Given the description of an element on the screen output the (x, y) to click on. 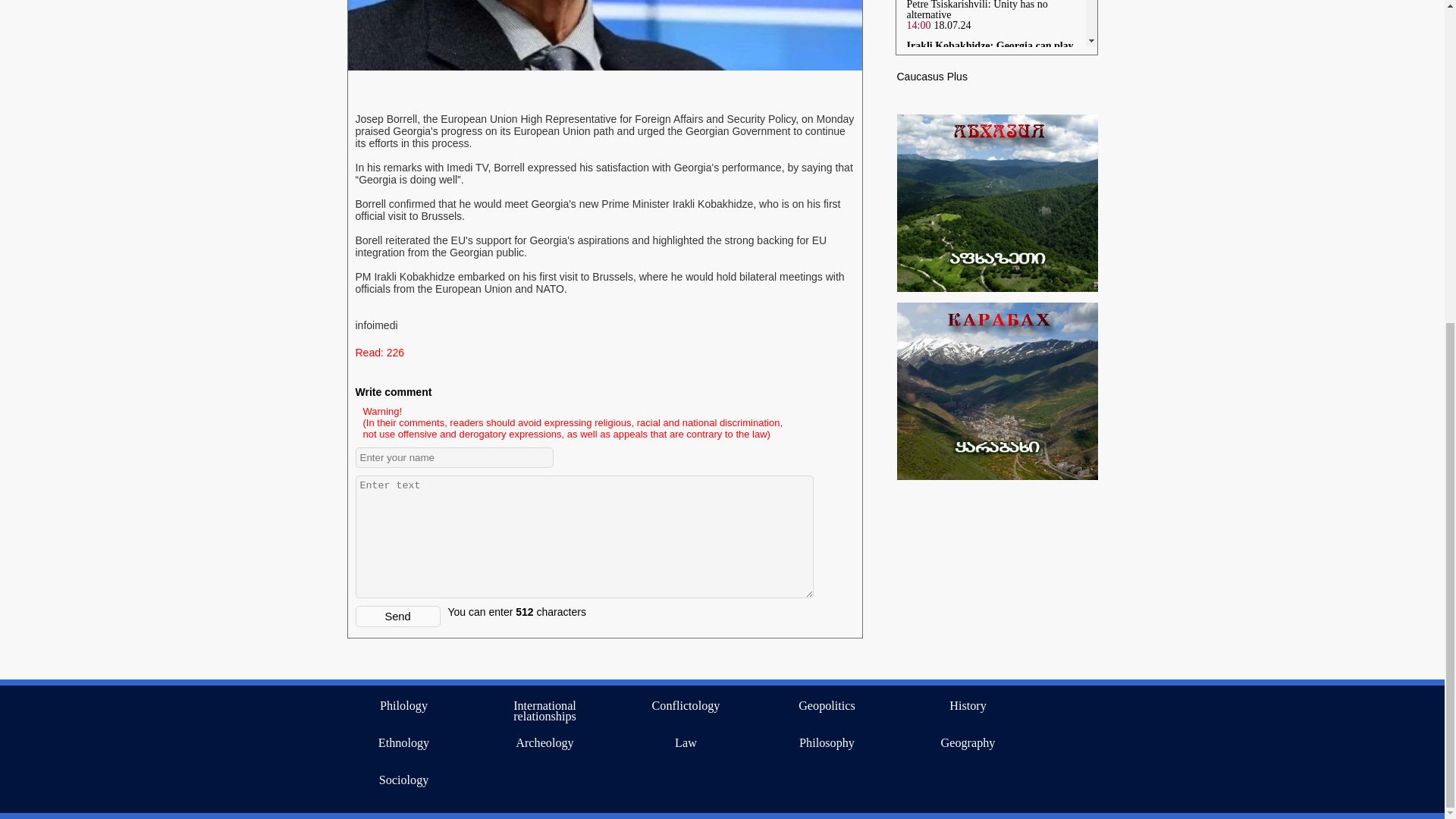
Lelo party, Ana Dolidze and Freedom Square unite (987, 155)
Petre Tsiskarishvili: Unity has no alternative (977, 10)
Write comment (392, 391)
Thailand introduces visa-free travel for Georgian citizens  (987, 607)
